Given the description of an element on the screen output the (x, y) to click on. 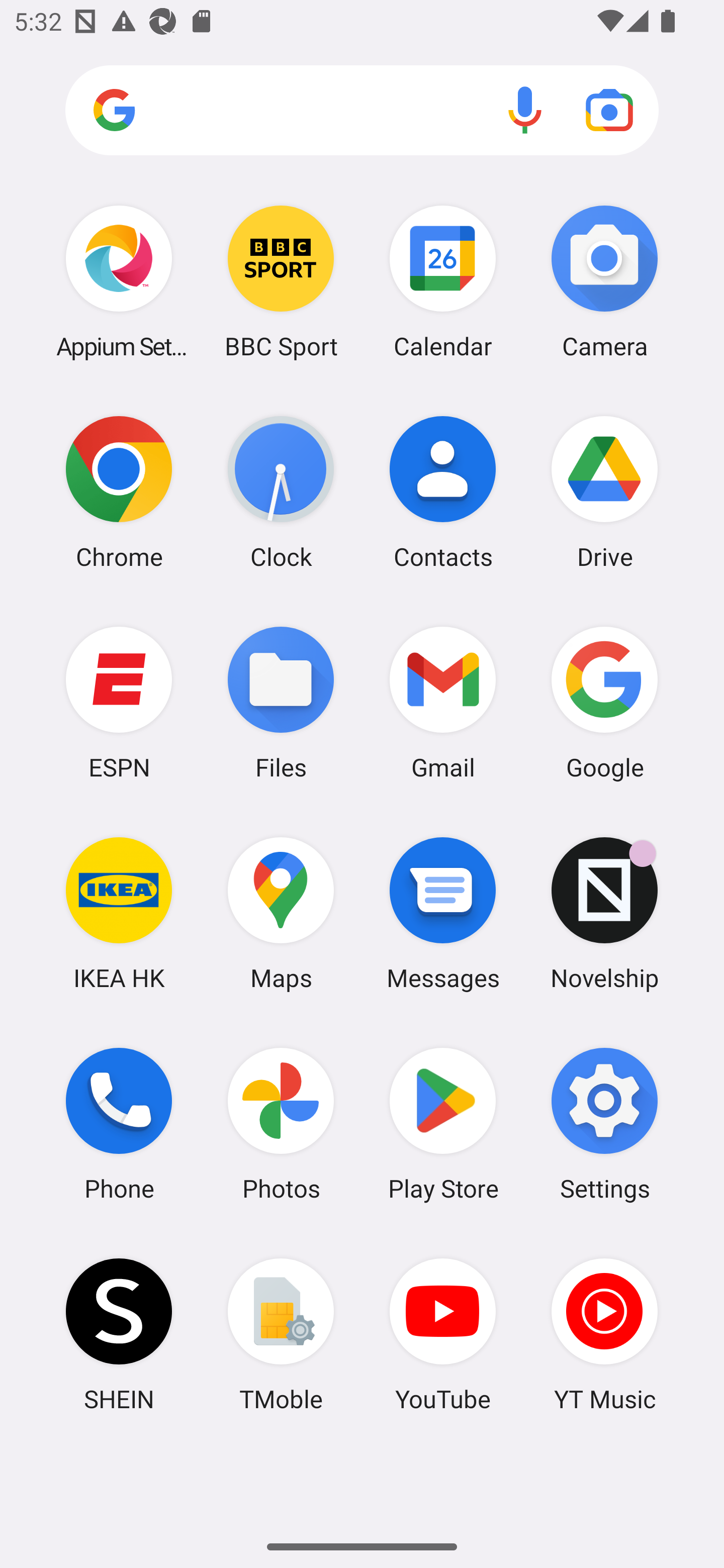
Search apps, web and more (361, 110)
Voice search (524, 109)
Google Lens (608, 109)
Appium Settings (118, 281)
BBC Sport (280, 281)
Calendar (443, 281)
Camera (604, 281)
Chrome (118, 492)
Clock (280, 492)
Contacts (443, 492)
Drive (604, 492)
ESPN (118, 702)
Files (280, 702)
Gmail (443, 702)
Google (604, 702)
IKEA HK (118, 913)
Maps (280, 913)
Messages (443, 913)
Novelship Novelship has 1 notification (604, 913)
Phone (118, 1124)
Photos (280, 1124)
Play Store (443, 1124)
Settings (604, 1124)
SHEIN (118, 1334)
TMoble (280, 1334)
YouTube (443, 1334)
YT Music (604, 1334)
